Given the description of an element on the screen output the (x, y) to click on. 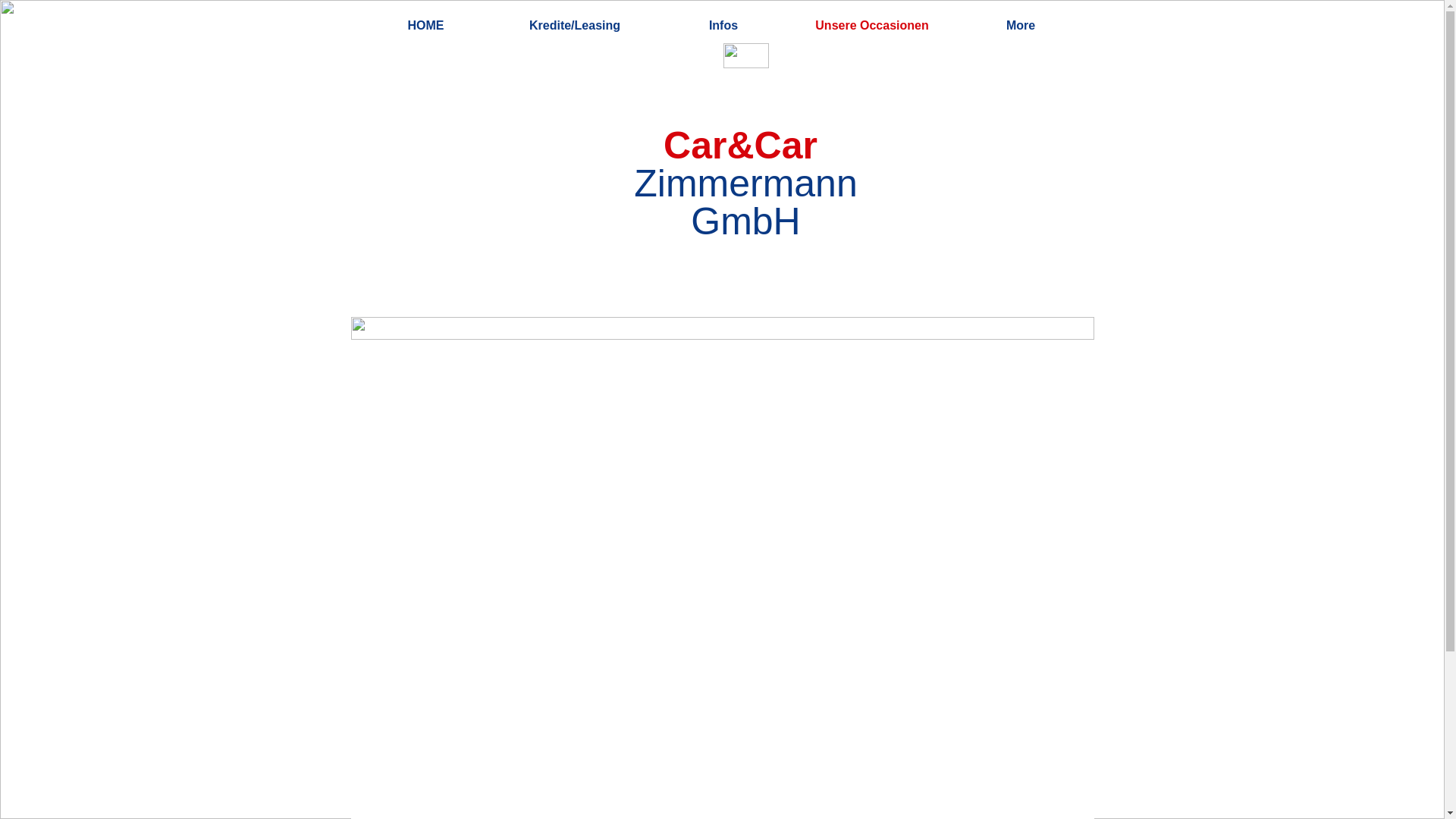
Unsere Occasionen Element type: text (871, 25)
Kredite/Leasing Element type: text (574, 25)
Infos Element type: text (723, 25)
Car&Car Element type: text (740, 145)
HOME Element type: text (425, 25)
